Given the description of an element on the screen output the (x, y) to click on. 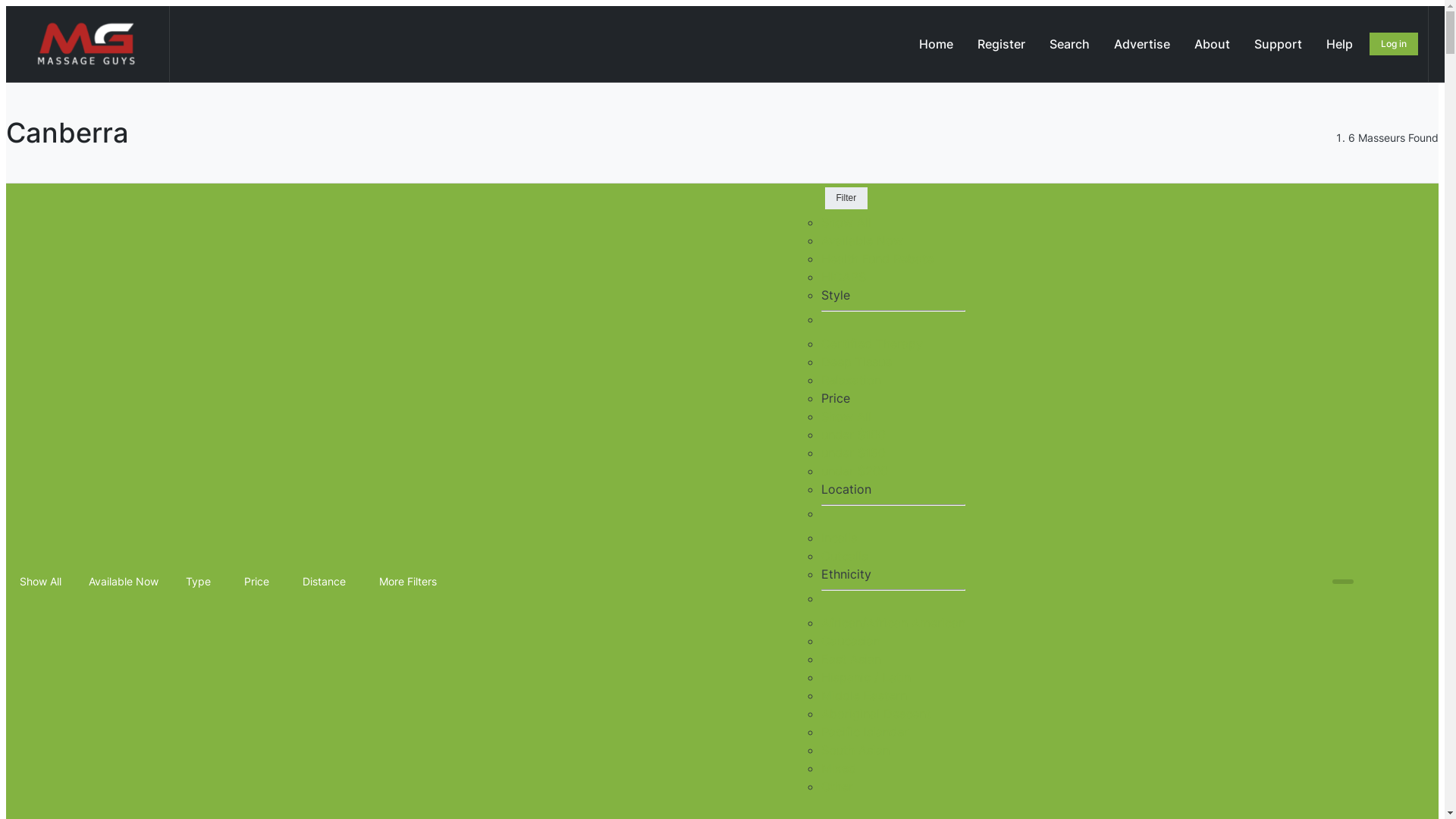
Hispanic / Latin Element type: text (865, 676)
Type Element type: text (201, 581)
Certified Therapy Element type: text (871, 343)
under $200 Element type: text (853, 470)
Filter Element type: text (846, 198)
Mixed Element type: text (837, 767)
under $100 Element type: text (852, 434)
Pacific Islander Element type: text (863, 731)
HICAPS Element type: text (842, 276)
Show All Element type: text (845, 415)
Outcalls Element type: text (843, 555)
More Filters Element type: text (410, 581)
Show All Element type: text (40, 581)
Deep Tissue Element type: text (855, 361)
Price Element type: text (259, 581)
South Asian Element type: text (854, 749)
grid Element type: hover (1342, 581)
detail Element type: hover (1397, 581)
map Element type: hover (1424, 581)
under $150 Element type: text (852, 452)
Caucasian Element type: text (849, 640)
Log in Element type: text (1393, 43)
Aboriginal Descent Element type: text (874, 713)
Home Element type: text (935, 43)
African/African American Element type: text (892, 622)
Available Now Element type: text (861, 239)
Advertise Element type: text (1141, 43)
Search Element type: text (1069, 43)
About Element type: text (1212, 43)
Support Element type: text (1277, 43)
East Asian Element type: text (850, 658)
Help Element type: text (1339, 43)
Register Element type: text (1001, 43)
Relaxation Element type: text (850, 379)
Other Element type: text (836, 785)
Incalls Element type: text (838, 537)
Health Fund Rebate Element type: text (876, 258)
mini-grid Element type: hover (1369, 581)
Distance Element type: text (326, 581)
Middle Eastern Element type: text (863, 694)
Available Now Element type: text (123, 581)
Show All Element type: text (845, 221)
